Given the description of an element on the screen output the (x, y) to click on. 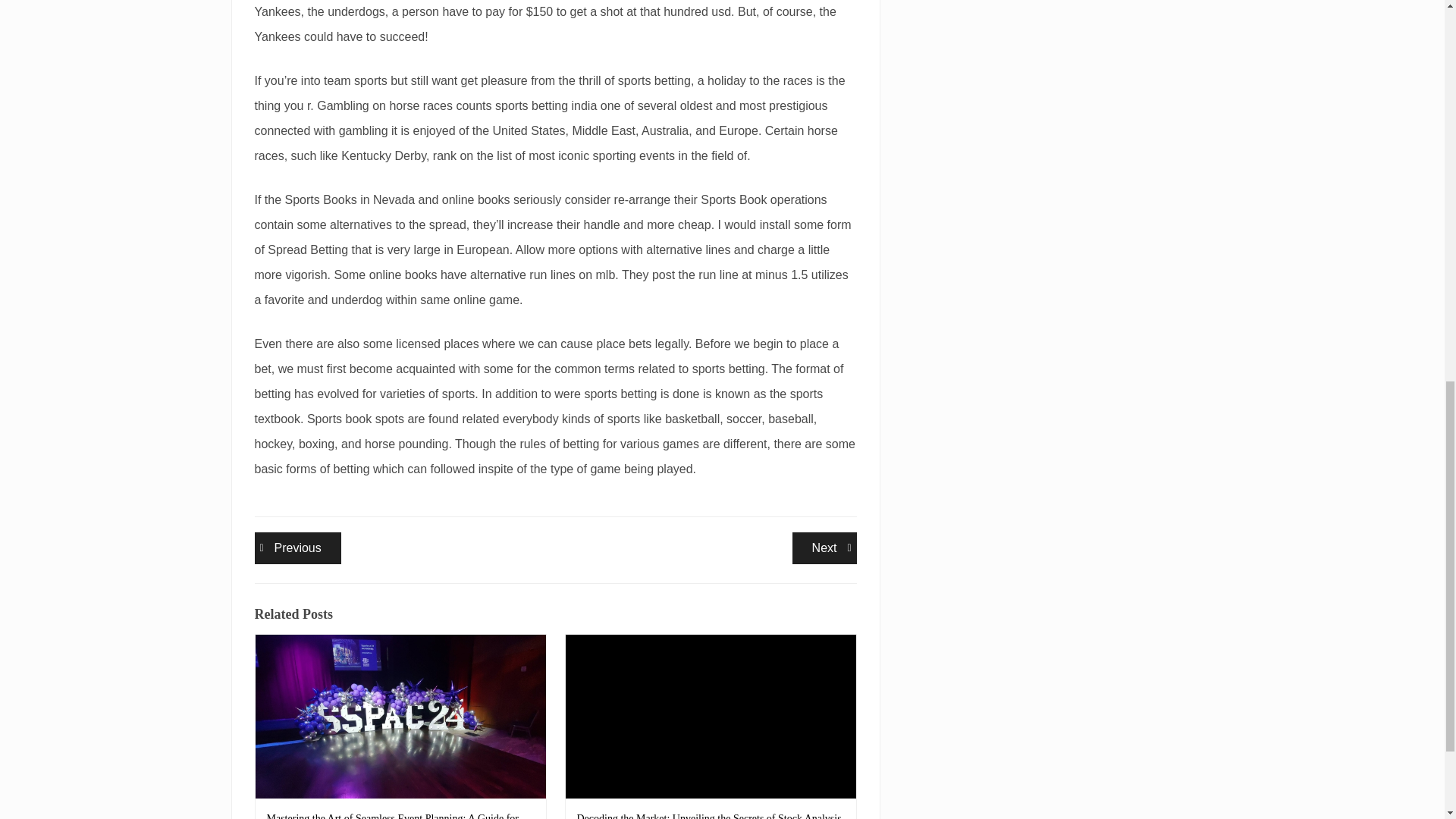
Decoding the Market: Unveiling the Secrets of Stock Analysis (824, 548)
